Given the description of an element on the screen output the (x, y) to click on. 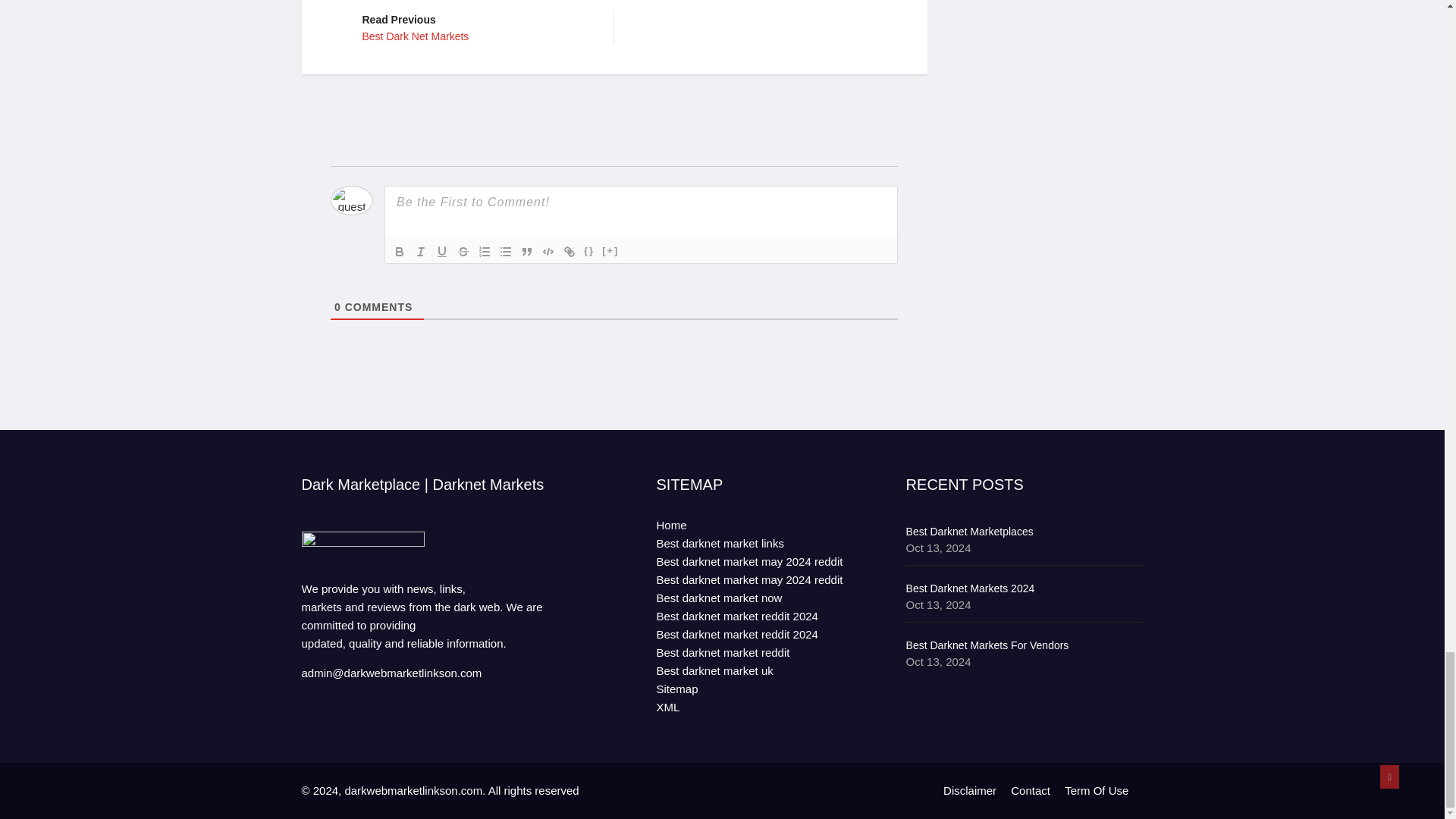
Blockquote (526, 250)
Italic (420, 250)
Code Block (548, 250)
Unordered List (505, 250)
Strike (476, 26)
Ordered List (463, 250)
Underline (484, 250)
Bold (441, 250)
Link (399, 250)
